Given the description of an element on the screen output the (x, y) to click on. 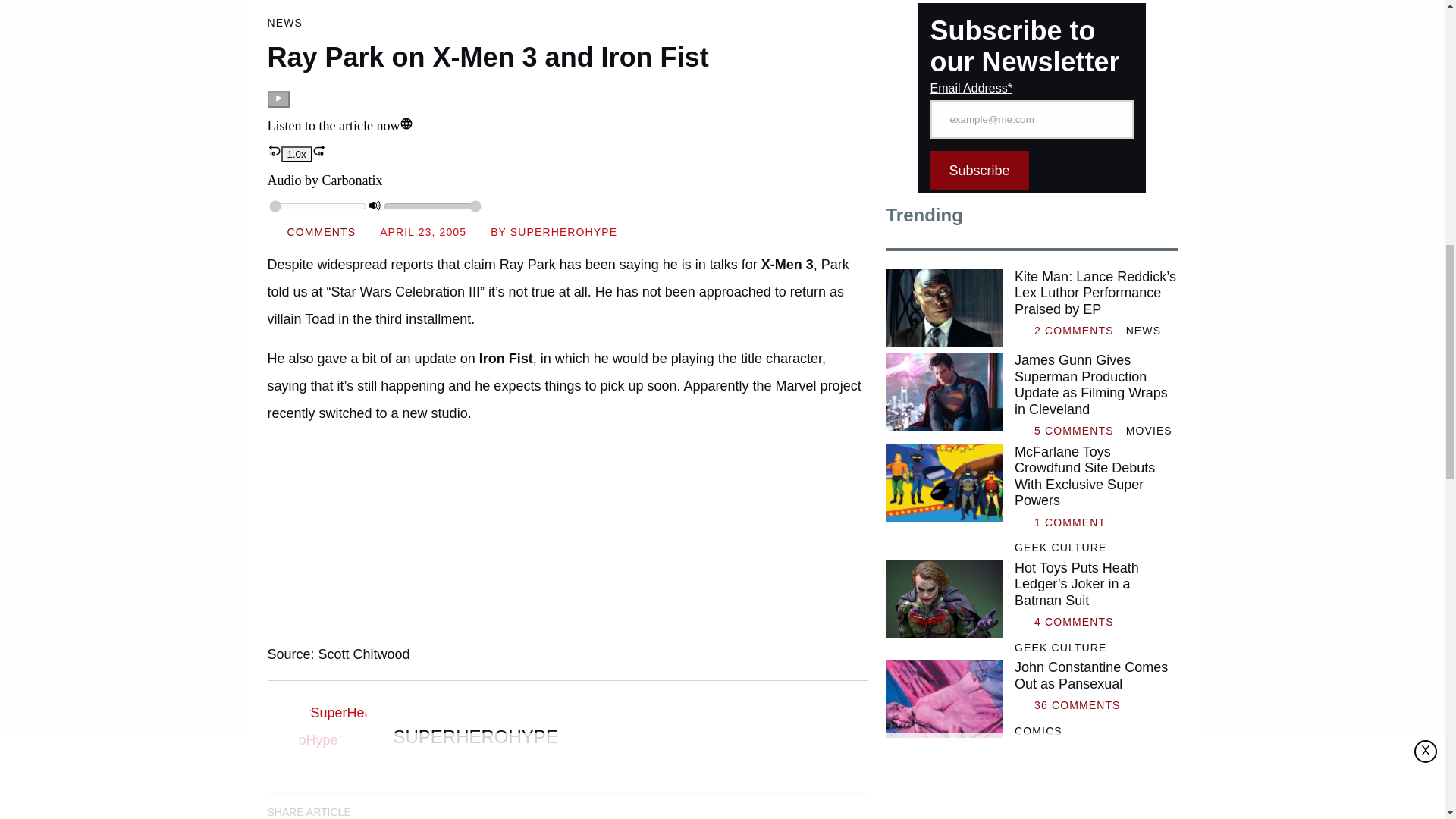
Pinterest (505, 809)
NEWS (1142, 330)
MOVIES (1148, 431)
GEEK CULTURE (1060, 547)
LinkedIn (420, 809)
COMMENTS (320, 232)
1 COMMENT (1069, 522)
SUPERHEROHYPE (564, 232)
NEWS (283, 22)
2 COMMENTS (1073, 330)
John Constantine Comes Out as Pansexual (1095, 676)
